Given the description of an element on the screen output the (x, y) to click on. 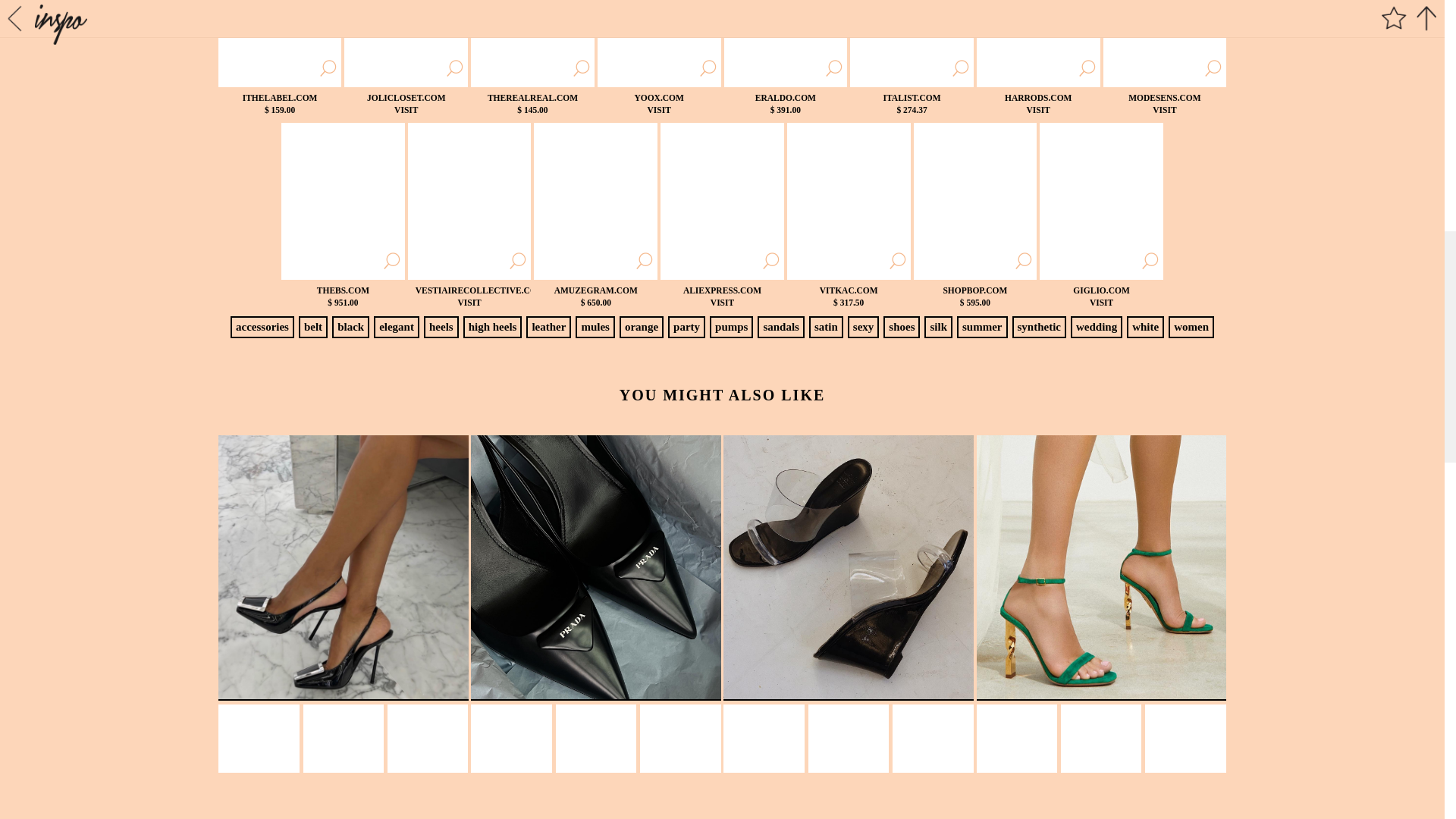
leather (548, 326)
orange (1038, 43)
p (641, 326)
w (645, 636)
c (762, 636)
Send via Email (881, 636)
belt (821, 636)
high heels (312, 326)
accessories (492, 326)
t (261, 326)
Share on Whatsapp (703, 636)
mules (405, 43)
heels (762, 636)
